Given the description of an element on the screen output the (x, y) to click on. 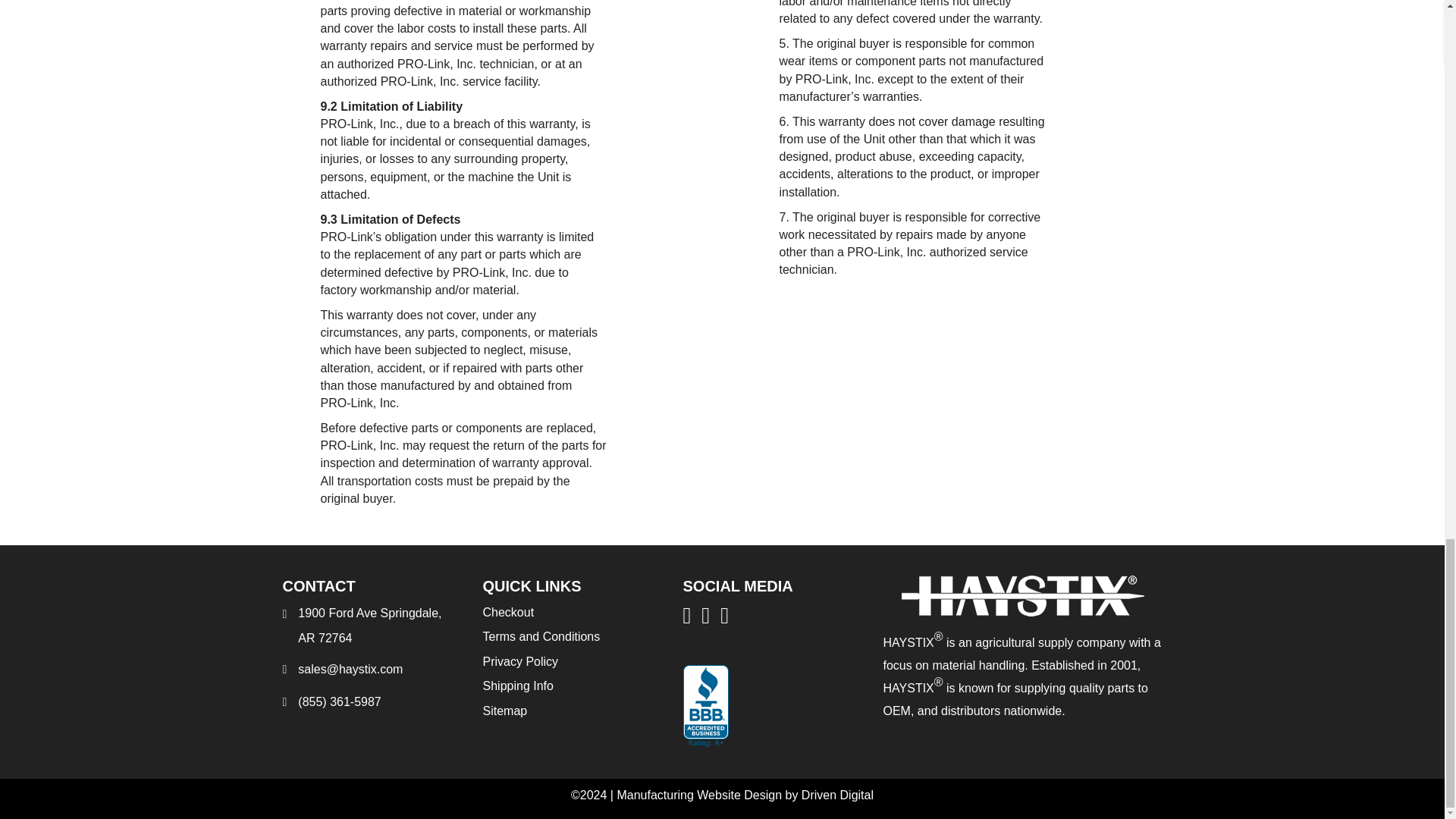
Sitemap (504, 710)
Privacy Policy (519, 661)
Shipping Info (517, 685)
Checkout (507, 612)
Terms and Conditions (540, 635)
